Given the description of an element on the screen output the (x, y) to click on. 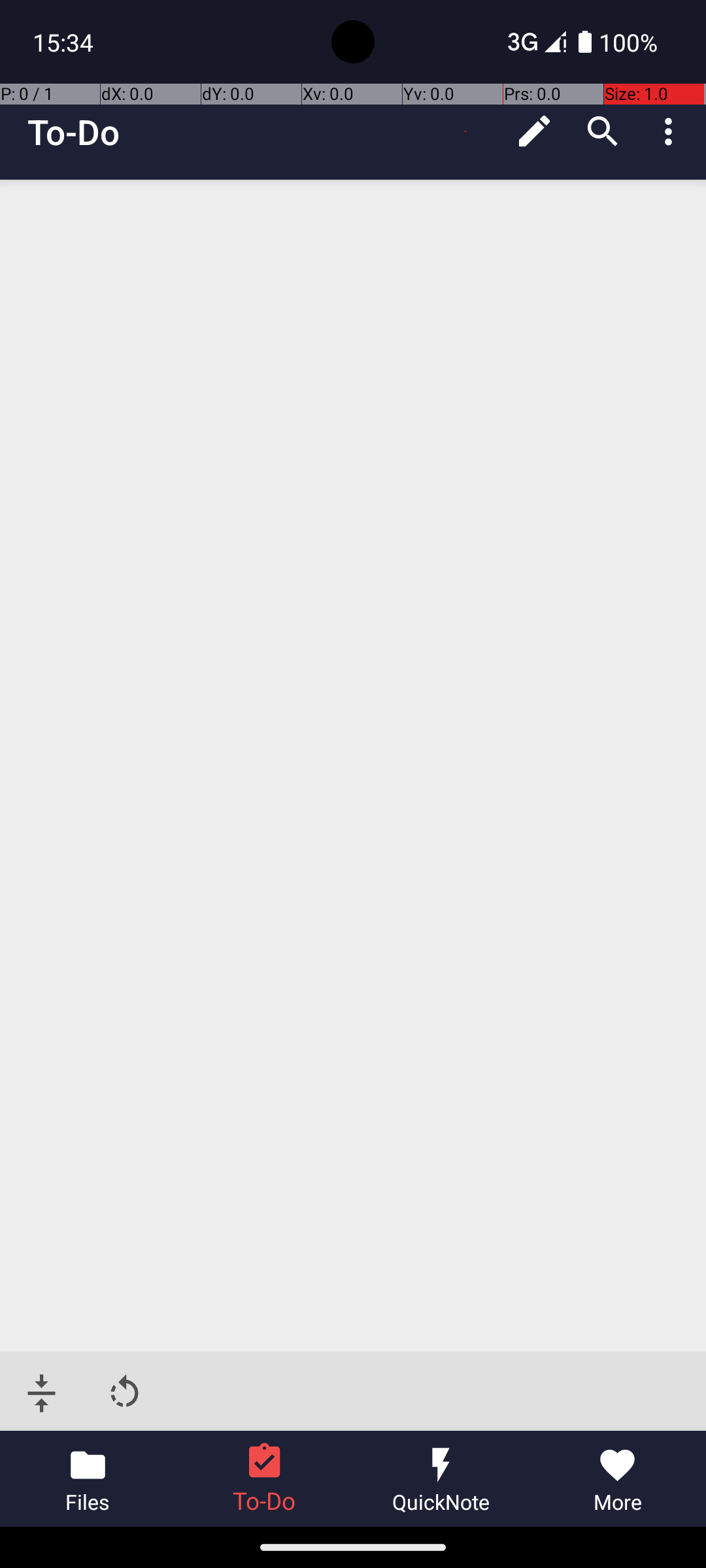
Edit mode Element type: android.widget.TextView (534, 131)
Jump to bottom Element type: android.widget.ImageView (41, 1392)
Rotate Element type: android.widget.ImageView (124, 1392)
